Given the description of an element on the screen output the (x, y) to click on. 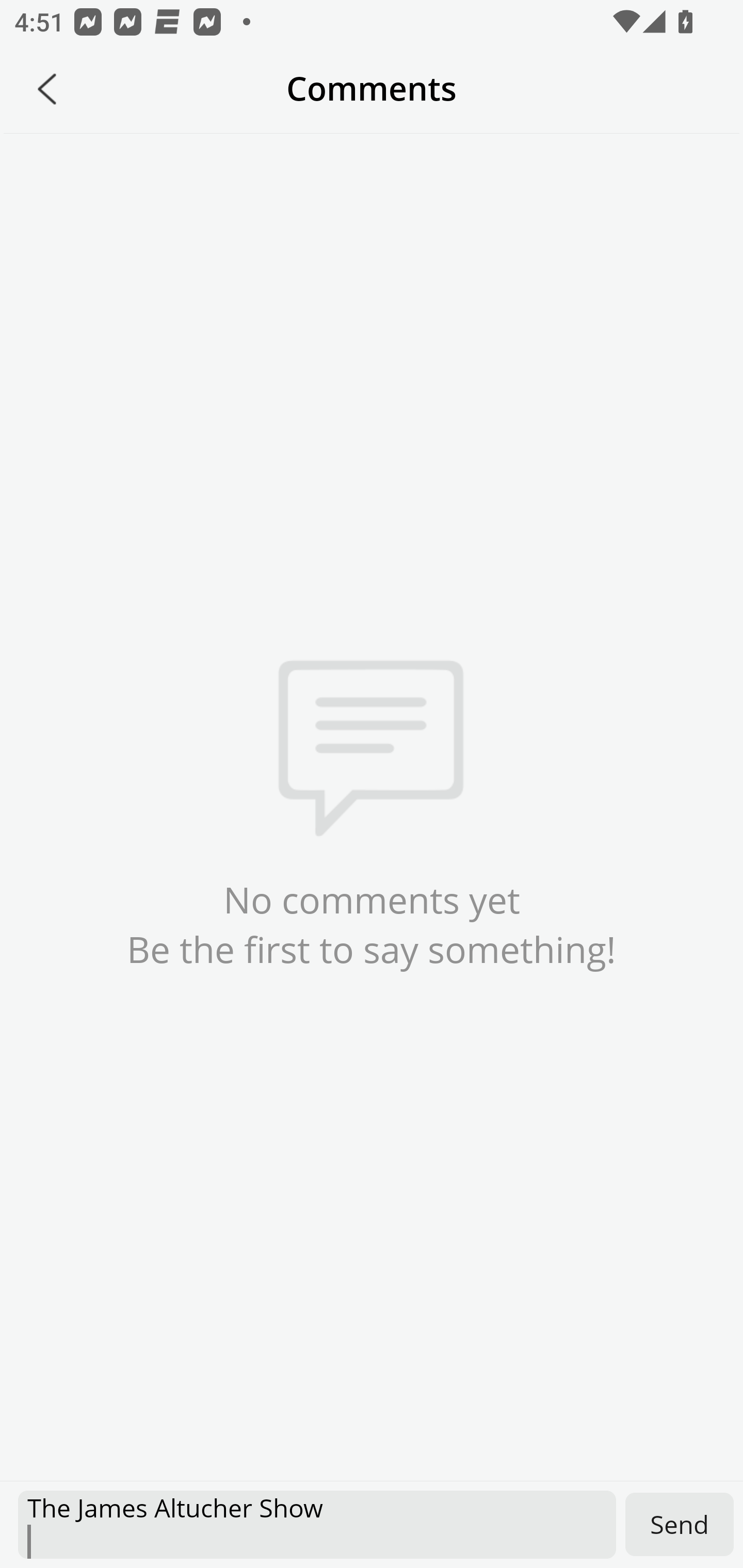
Back (46, 88)
The James Altucher Show
 (316, 1524)
Send (679, 1523)
